Given the description of an element on the screen output the (x, y) to click on. 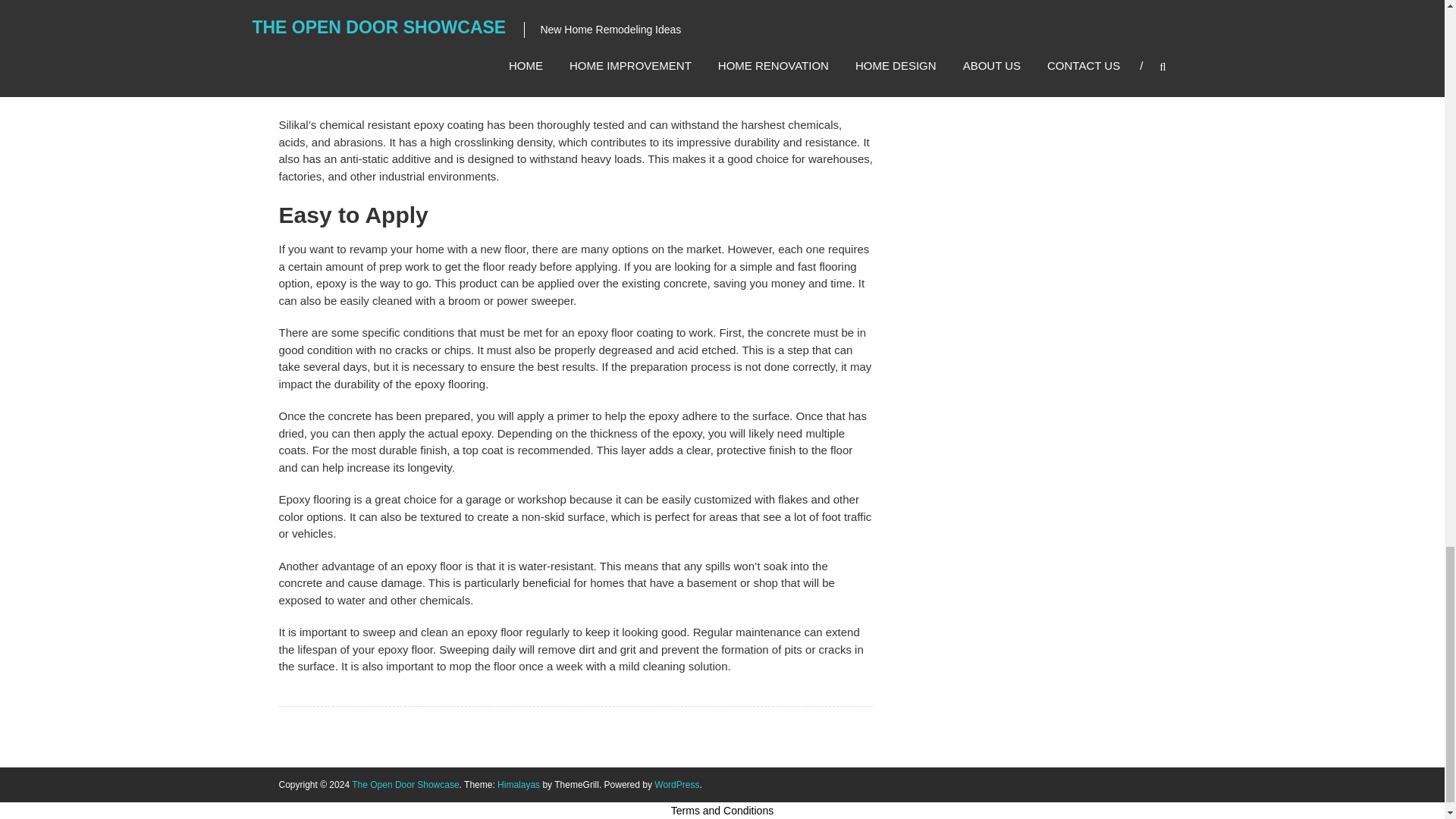
WordPress (675, 784)
Himalayas (518, 784)
The Open Door Showcase (405, 784)
